Given the description of an element on the screen output the (x, y) to click on. 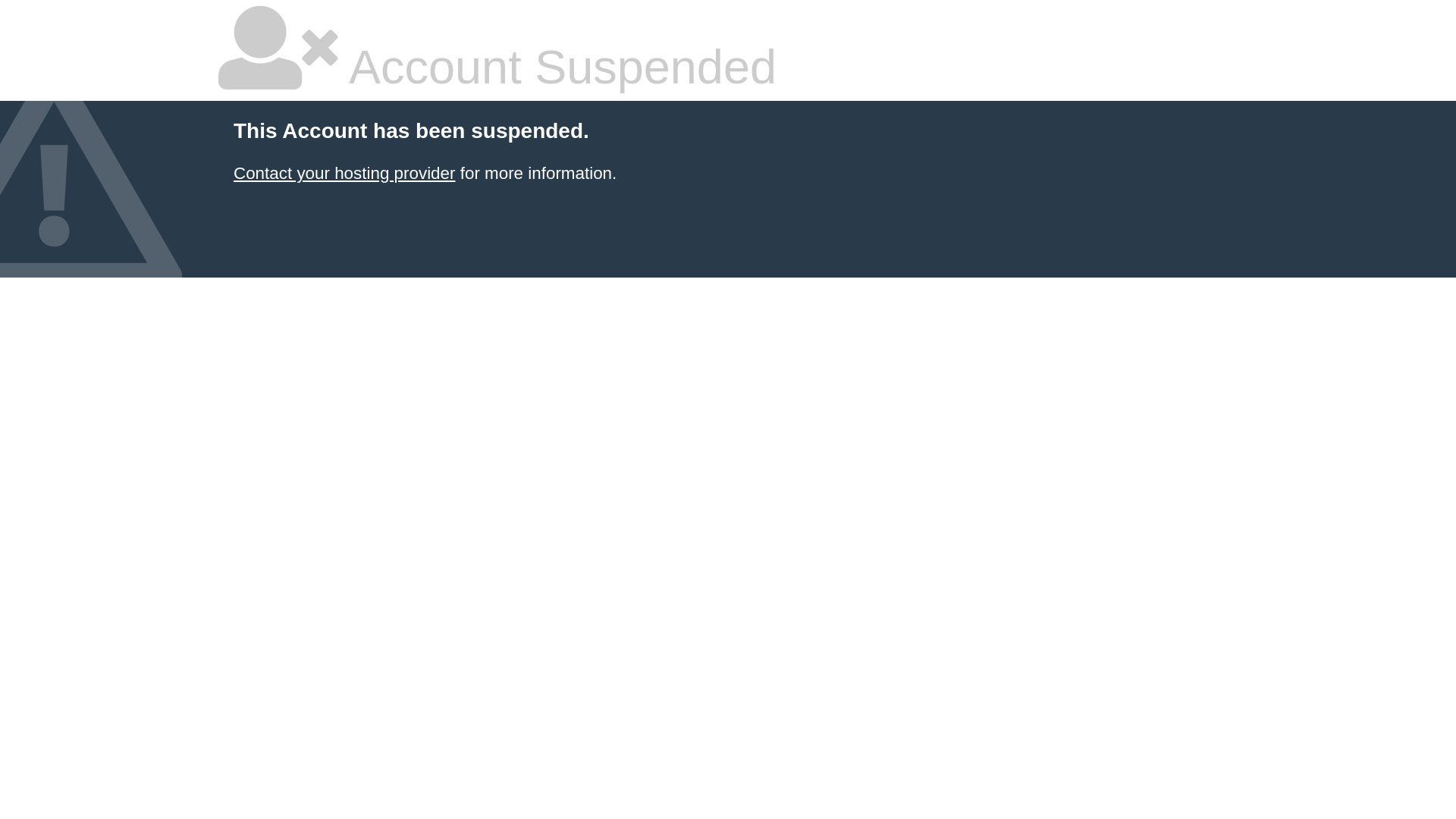
Contact your hosting provider Element type: text (344, 172)
